Given the description of an element on the screen output the (x, y) to click on. 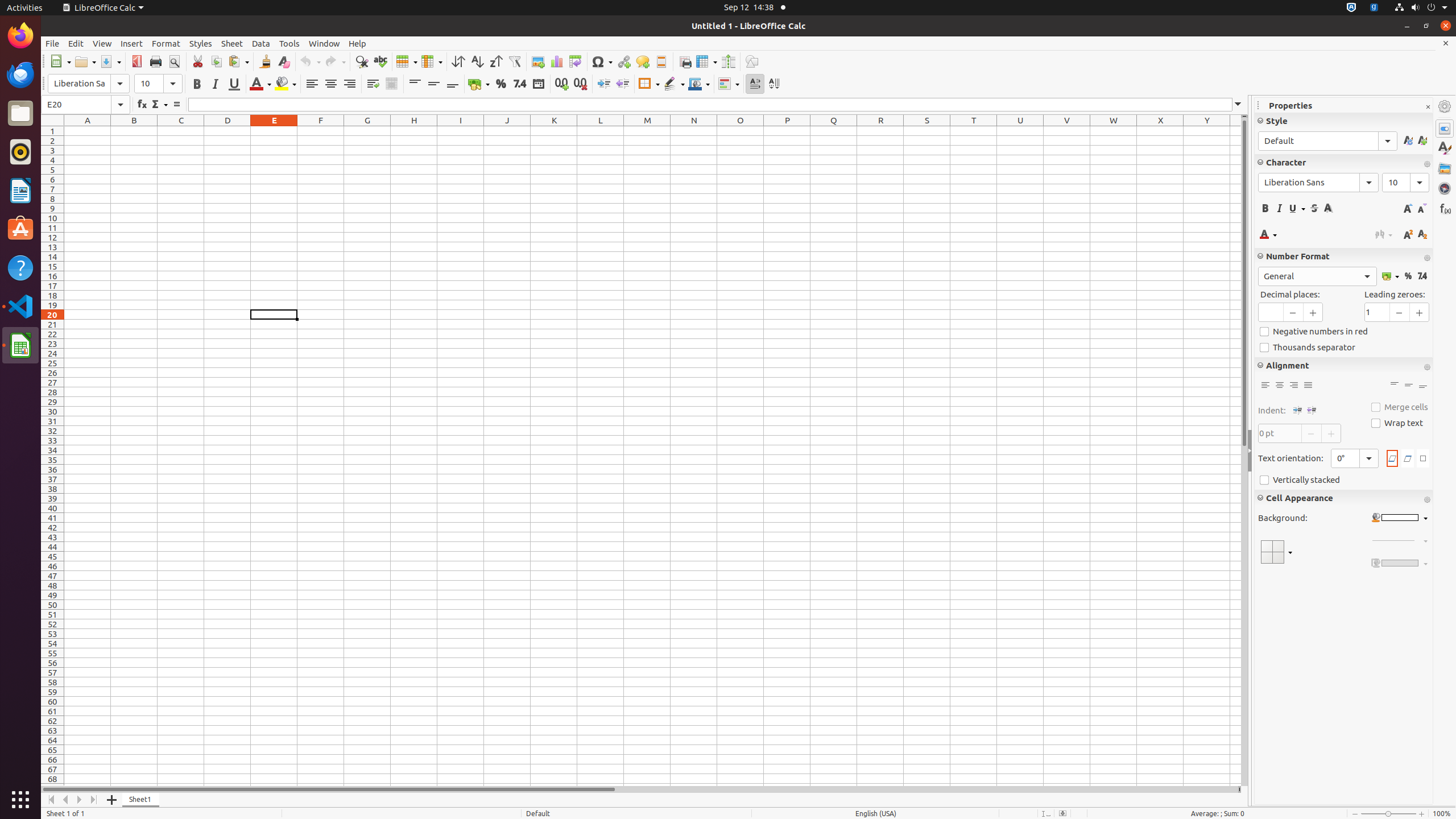
Delete Decimal Place Element type: push-button (580, 83)
Italic Element type: toggle-button (214, 83)
View Element type: menu (102, 43)
Move To Home Element type: push-button (51, 799)
G1 Element type: table-cell (367, 130)
